Given the description of an element on the screen output the (x, y) to click on. 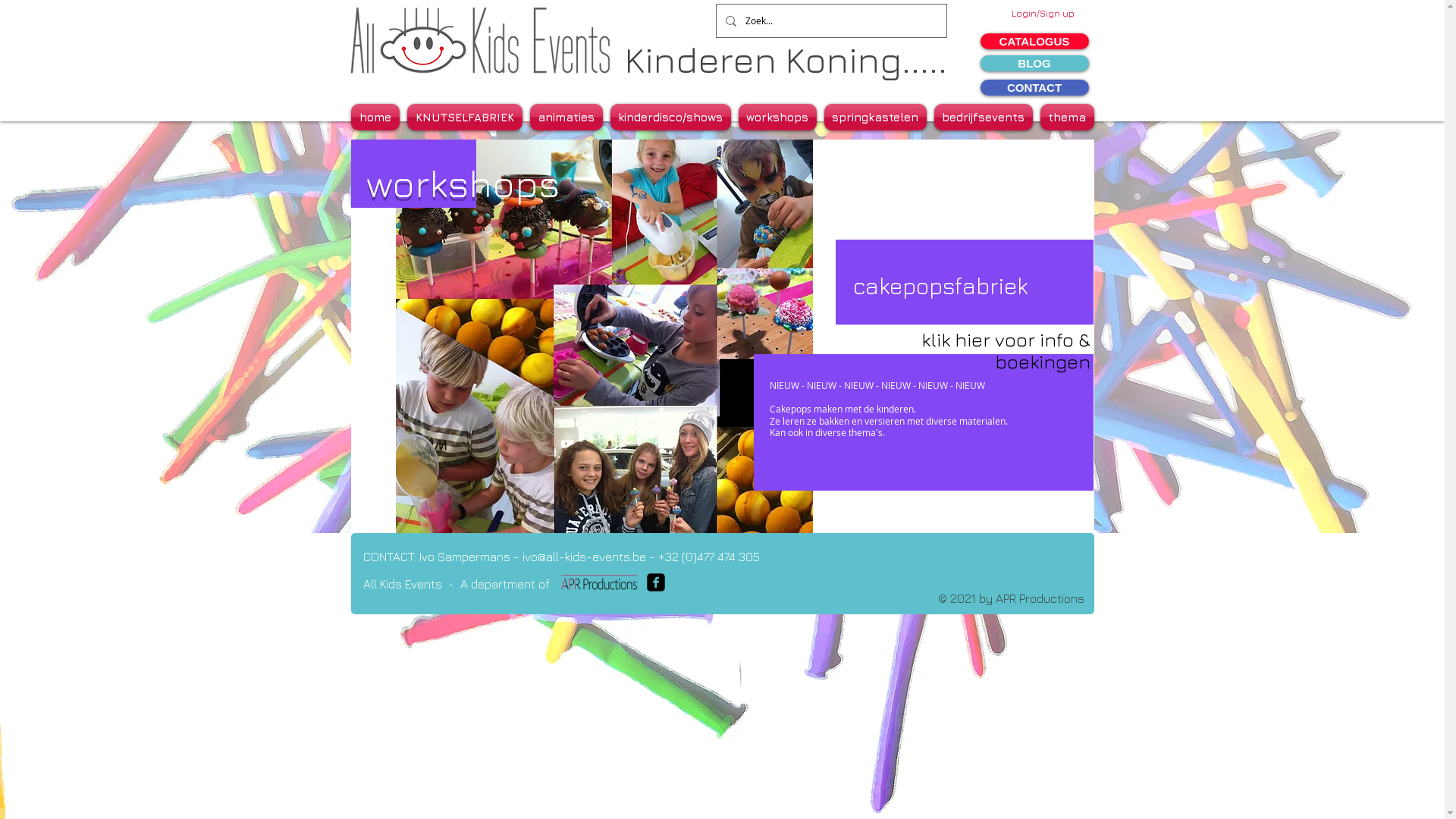
Cakepops.jpg Element type: hover (603, 336)
KNUTSELFABRIEK Element type: text (464, 116)
APR-P-LOGO72.png Element type: hover (598, 581)
workshops Element type: text (776, 116)
CONTACT Element type: text (1033, 87)
animaties Element type: text (566, 116)
All Kids Events  -  A department of Element type: text (455, 583)
kinderdisco/shows Element type: text (670, 116)
thema Element type: text (1064, 116)
LOGO-AKE.png Element type: hover (475, 39)
home Element type: text (376, 116)
CATALOGUS Element type: text (1033, 41)
bedrijfsevents Element type: text (982, 116)
klik hier voor info & boekingen Element type: text (1004, 350)
BLOG Element type: text (1033, 63)
Login/Sign up Element type: text (1042, 13)
springkastelen Element type: text (875, 116)
